Given the description of an element on the screen output the (x, y) to click on. 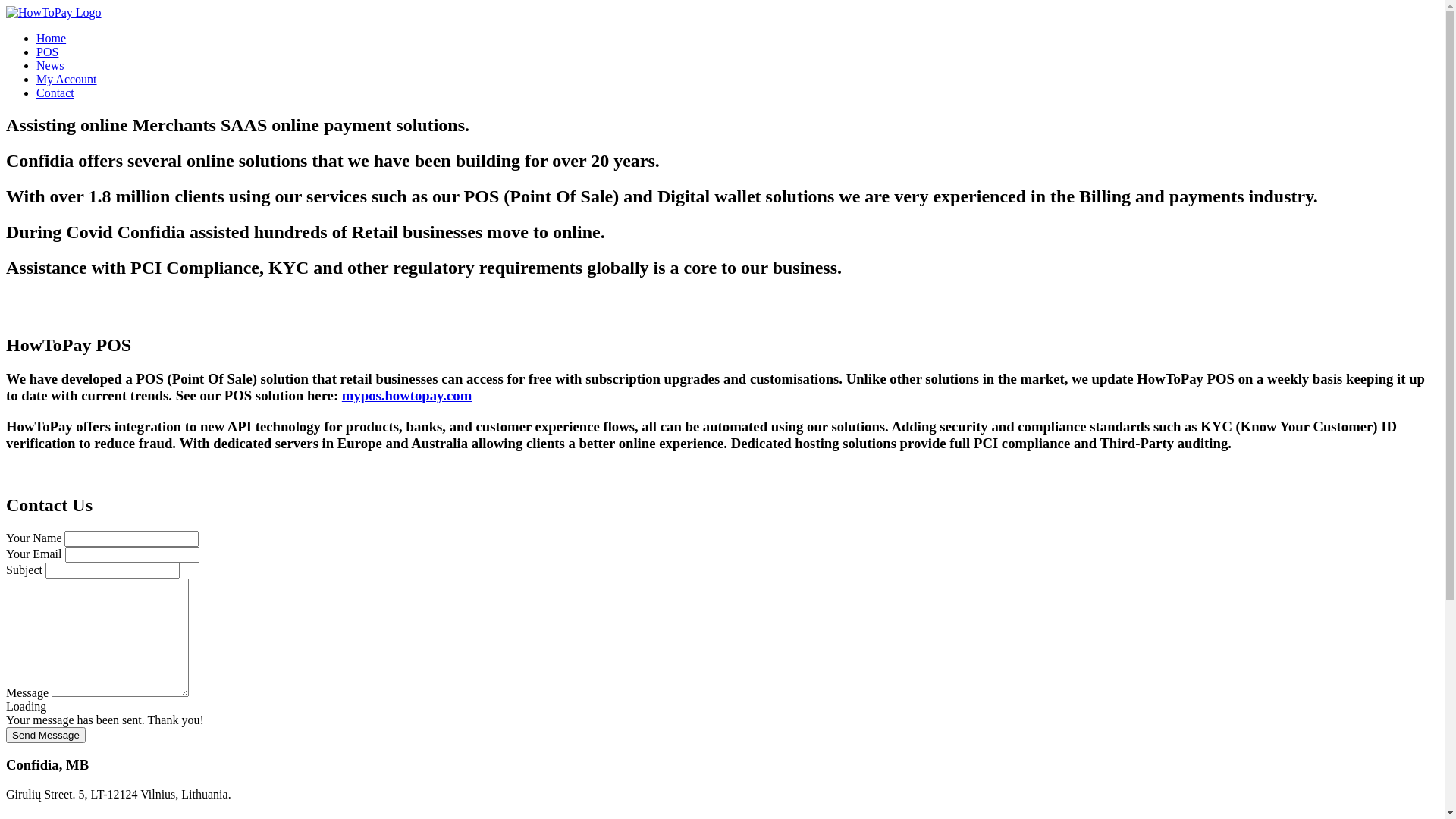
Home Element type: text (50, 37)
Contact Element type: text (55, 92)
Send Message Element type: text (45, 734)
mypos.howtopay.com Element type: text (406, 395)
News Element type: text (49, 65)
POS Element type: text (47, 51)
My Account Element type: text (66, 78)
